Given the description of an element on the screen output the (x, y) to click on. 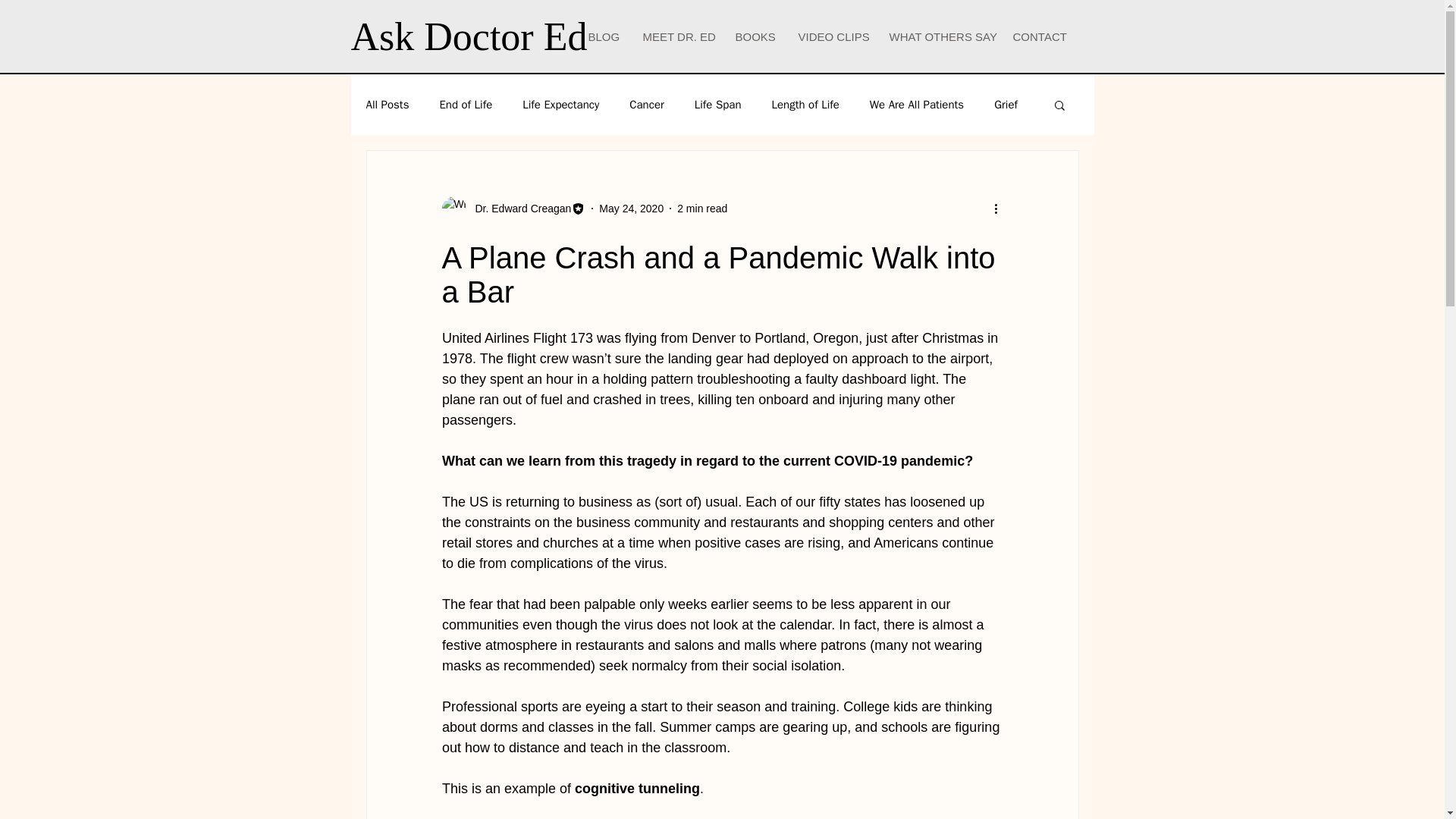
WHAT OTHERS SAY (939, 36)
Ask Doctor Ed (468, 36)
BLOG (603, 36)
VIDEO CLIPS (832, 36)
Grief (1005, 104)
We Are All Patients (916, 104)
MEET DR. ED (676, 36)
Life Span (717, 104)
Dr. Edward Creagan (517, 207)
End of Life (465, 104)
